Given the description of an element on the screen output the (x, y) to click on. 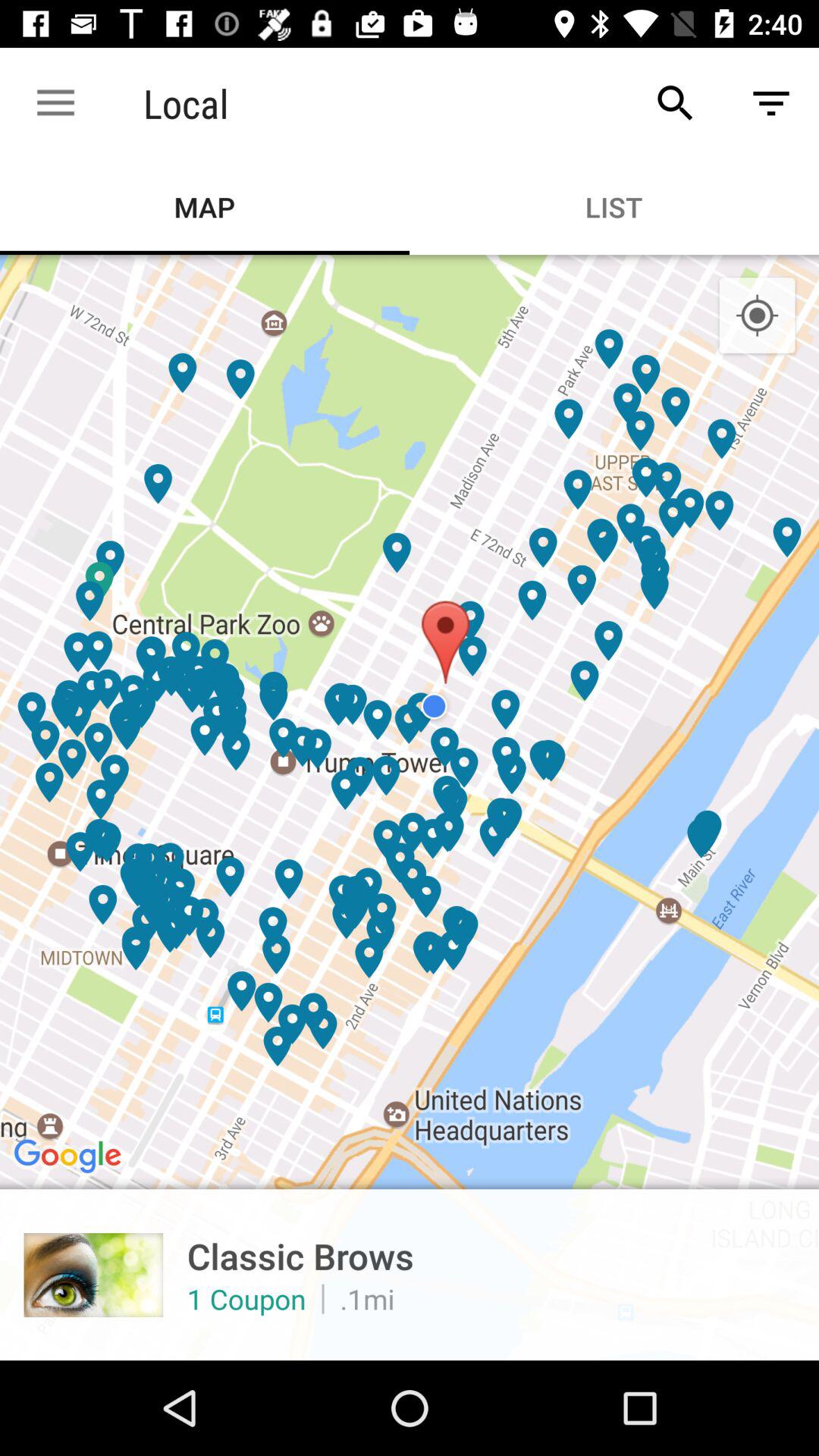
open the app next to local icon (675, 103)
